Given the description of an element on the screen output the (x, y) to click on. 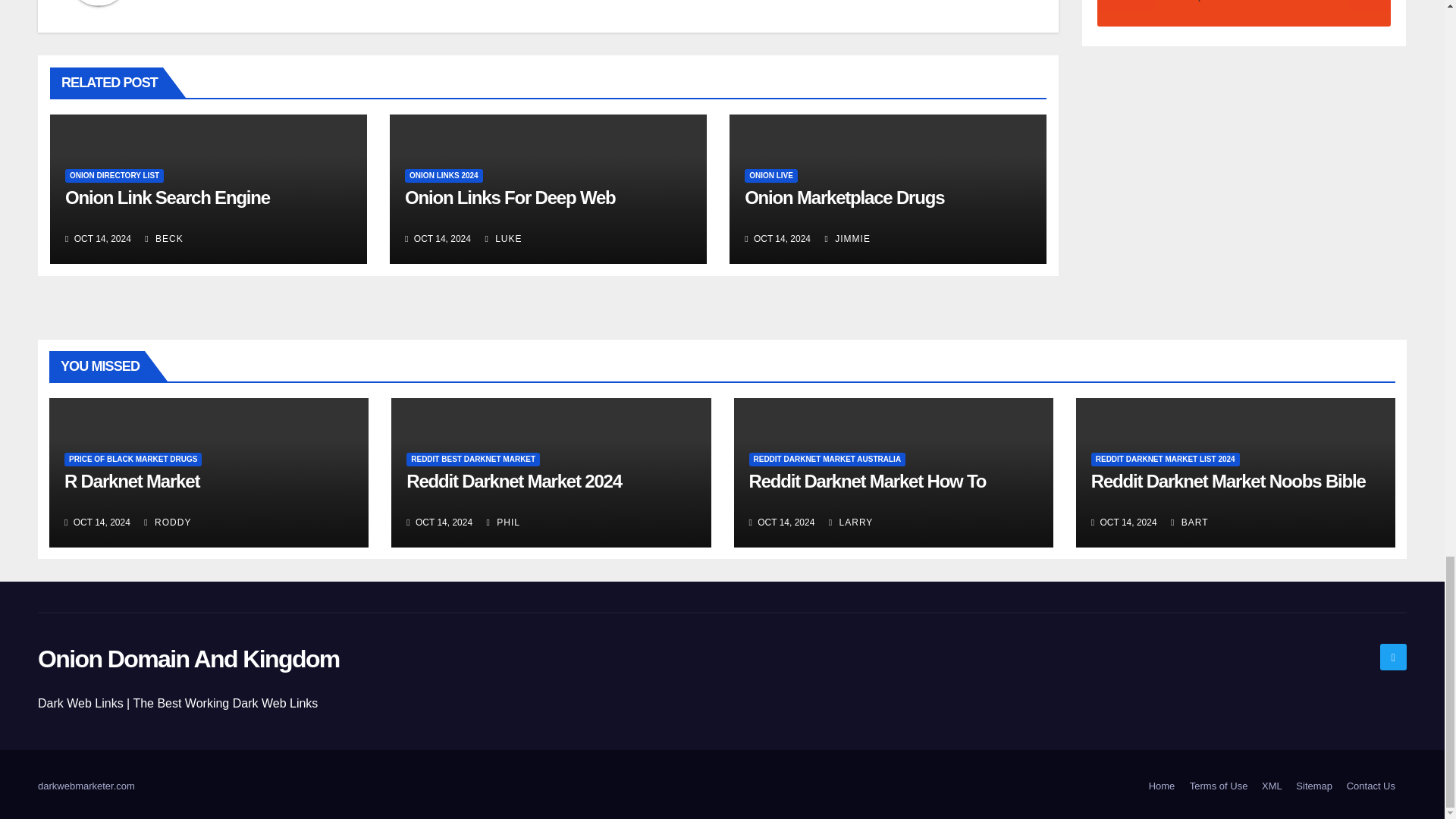
Permalink to: Onion Market (843, 197)
Permalink to: Onion Links Credit Card (509, 197)
Permalink to: Onion Link Reddit (167, 197)
